Given the description of an element on the screen output the (x, y) to click on. 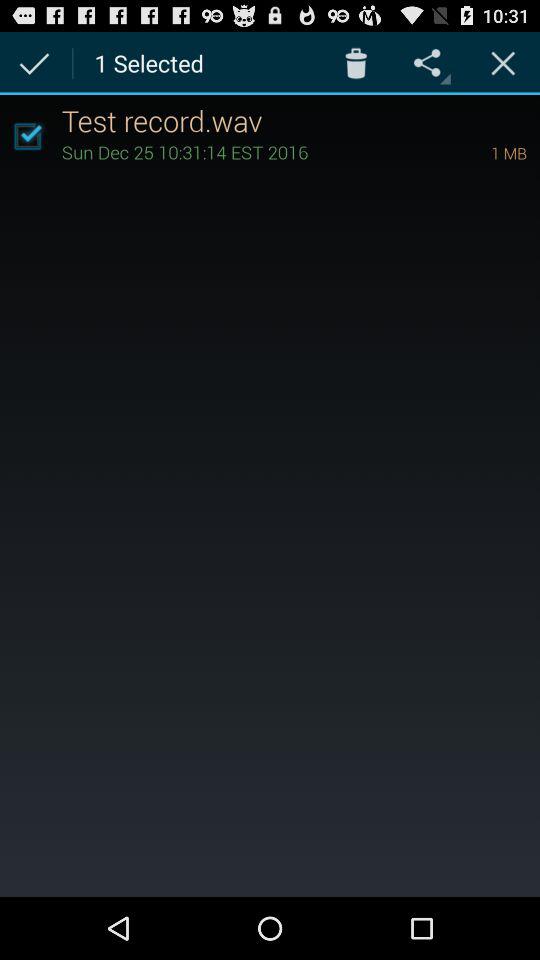
turn off the icon next to 1 mb (248, 151)
